Given the description of an element on the screen output the (x, y) to click on. 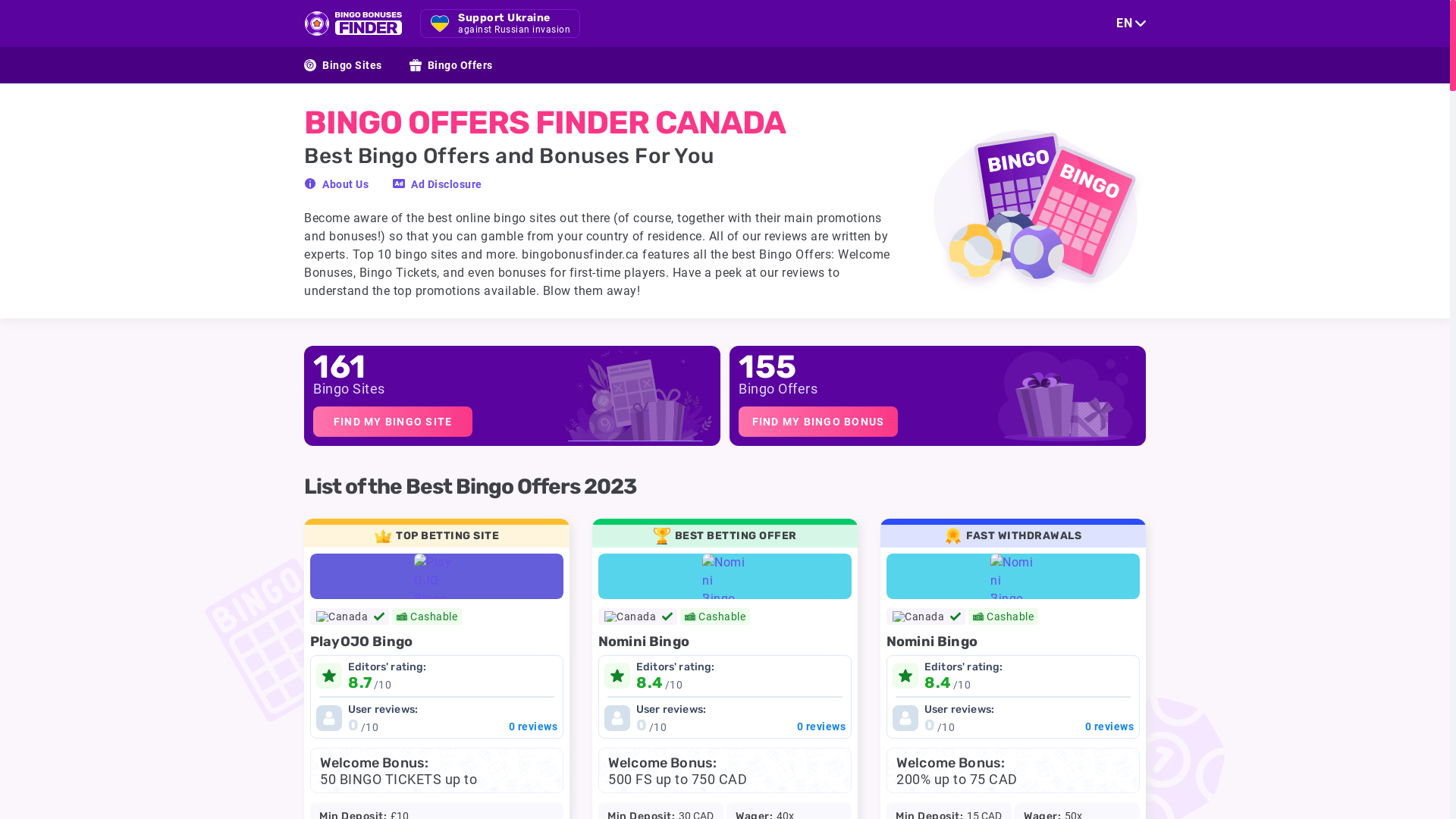
Welcome Bonus:
500 FS up to 750 CAD Element type: text (724, 770)
User reviews:
0
/10
0 reviews Element type: text (1012, 717)
FIND MY BINGO BONUS Element type: text (817, 421)
Welcome Bonus:
50 BINGO TICKETS up to Element type: text (436, 770)
FIND MY BINGO SITE Element type: text (392, 421)
Bingo Sites Element type: text (342, 65)
Bingo Offers Element type: text (450, 65)
User reviews:
0
/10
0 reviews Element type: text (436, 717)
Support Ukraine
against Russian invasion Element type: text (500, 23)
Welcome Bonus:
200% up to 75 CAD Element type: text (1012, 770)
User reviews:
0
/10
0 reviews Element type: text (724, 717)
